Given the description of an element on the screen output the (x, y) to click on. 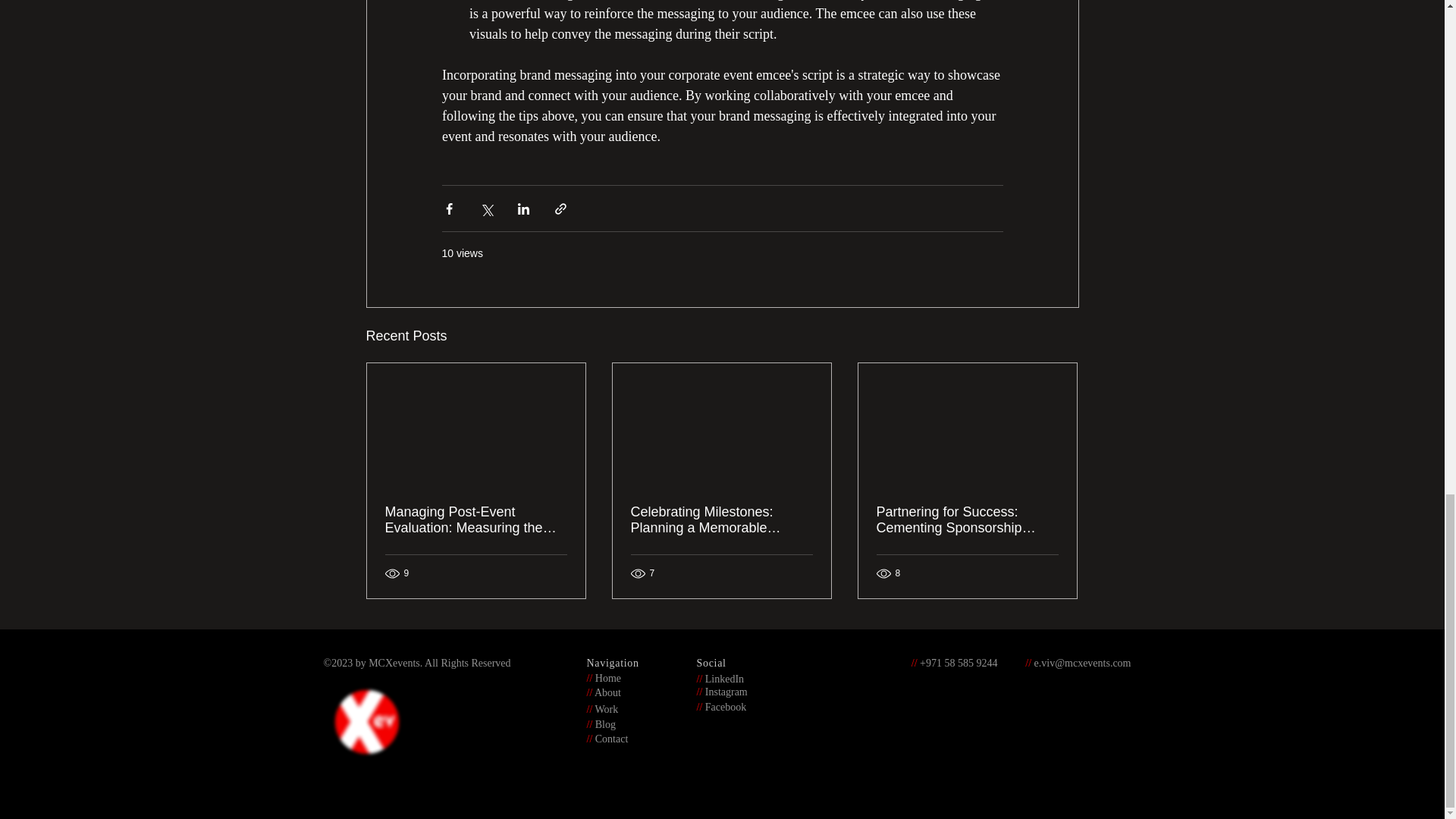
Home (606, 677)
Partnering for Success: Cementing Sponsorship Relationships (967, 520)
About (606, 692)
Contact (609, 738)
Work (604, 708)
